Given the description of an element on the screen output the (x, y) to click on. 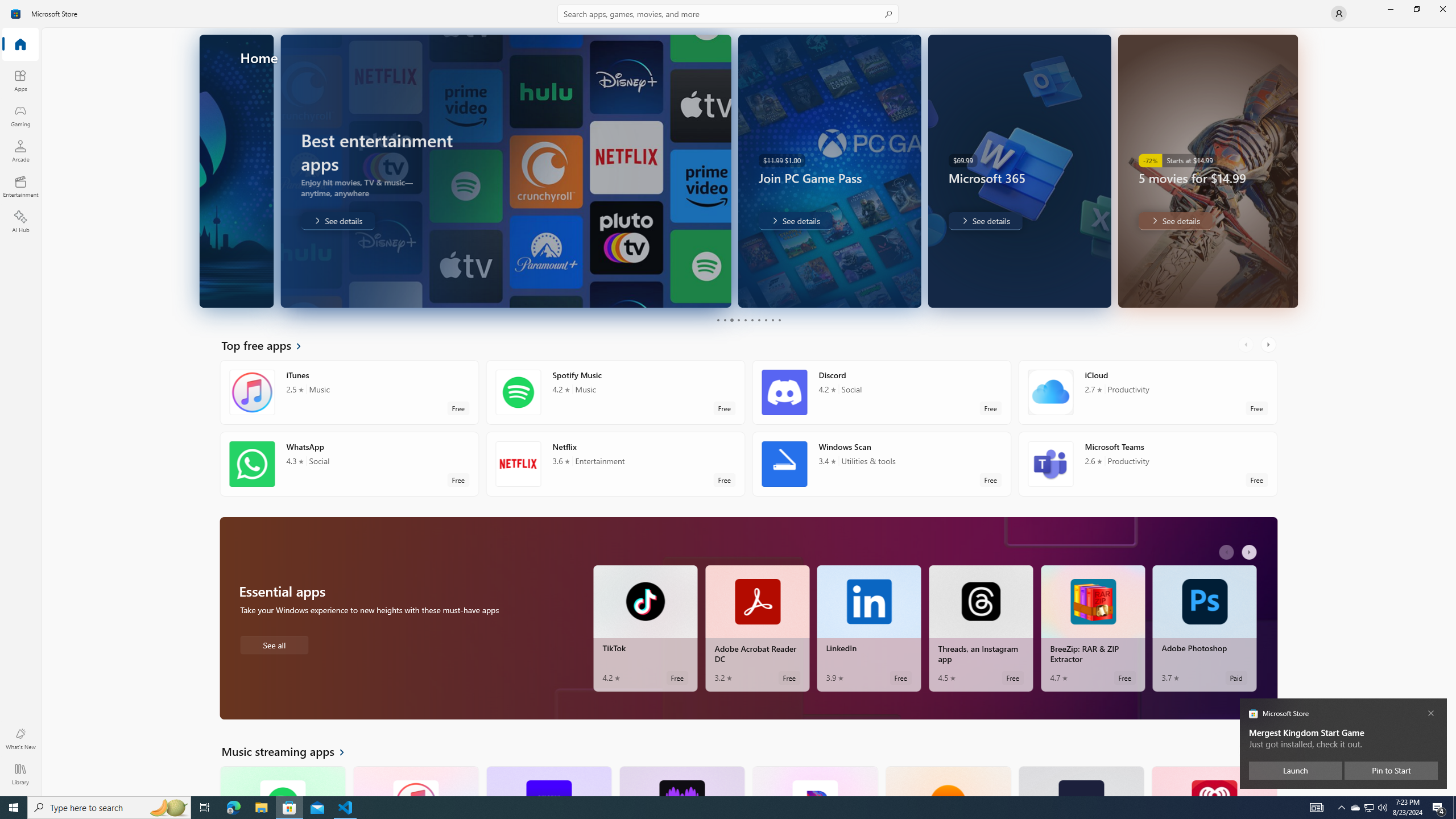
Page 3 (731, 319)
Page 9 (772, 319)
Library (20, 773)
AutomationID: NavigationControl (728, 398)
LinkedIn. Average rating of 3.9 out of five stars. Free   (868, 628)
Class: Image (15, 13)
Entertainment (20, 185)
Page 6 (751, 319)
WhatsApp. Average rating of 4.3 out of five stars. Free   (349, 463)
See all  Essential apps (274, 644)
iCloud. Average rating of 2.7 out of five stars. Free   (1146, 392)
AutomationID: RightScrollButton (1269, 750)
